Given the description of an element on the screen output the (x, y) to click on. 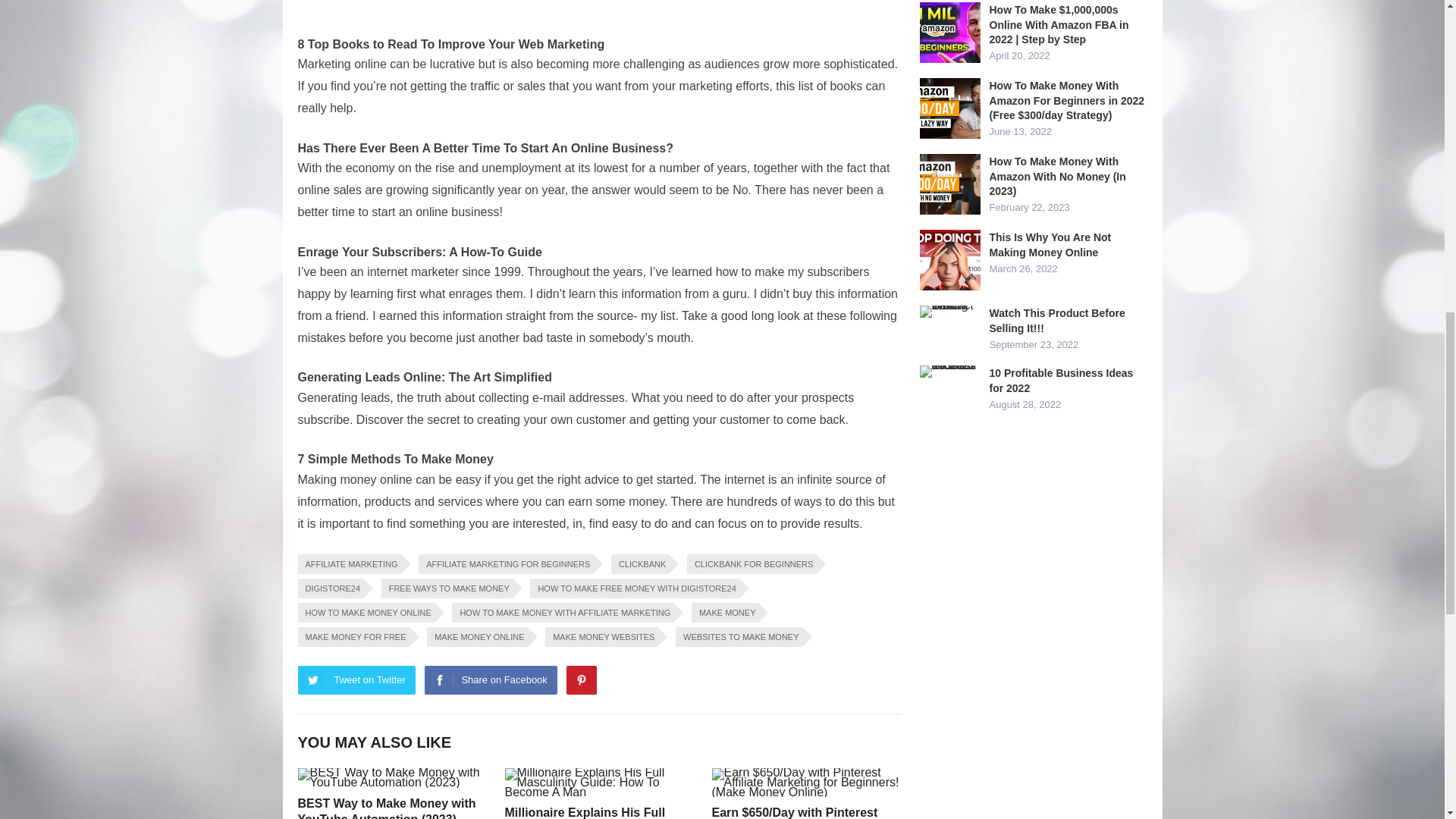
AFFILIATE MARKETING (348, 564)
10 Profitable Business Ideas for 2022 22 (948, 371)
Watch This Product Before Selling It!!! 21 (948, 311)
MAKE MONEY (724, 612)
MAKE MONEY ONLINE (476, 637)
CLICKBANK (639, 564)
AFFILIATE MARKETING FOR BEGINNERS (505, 564)
HOW TO MAKE MONEY ONLINE (365, 612)
CLICKBANK FOR BEGINNERS (751, 564)
HOW TO MAKE FREE MONEY WITH DIGISTORE24 (633, 588)
